Given the description of an element on the screen output the (x, y) to click on. 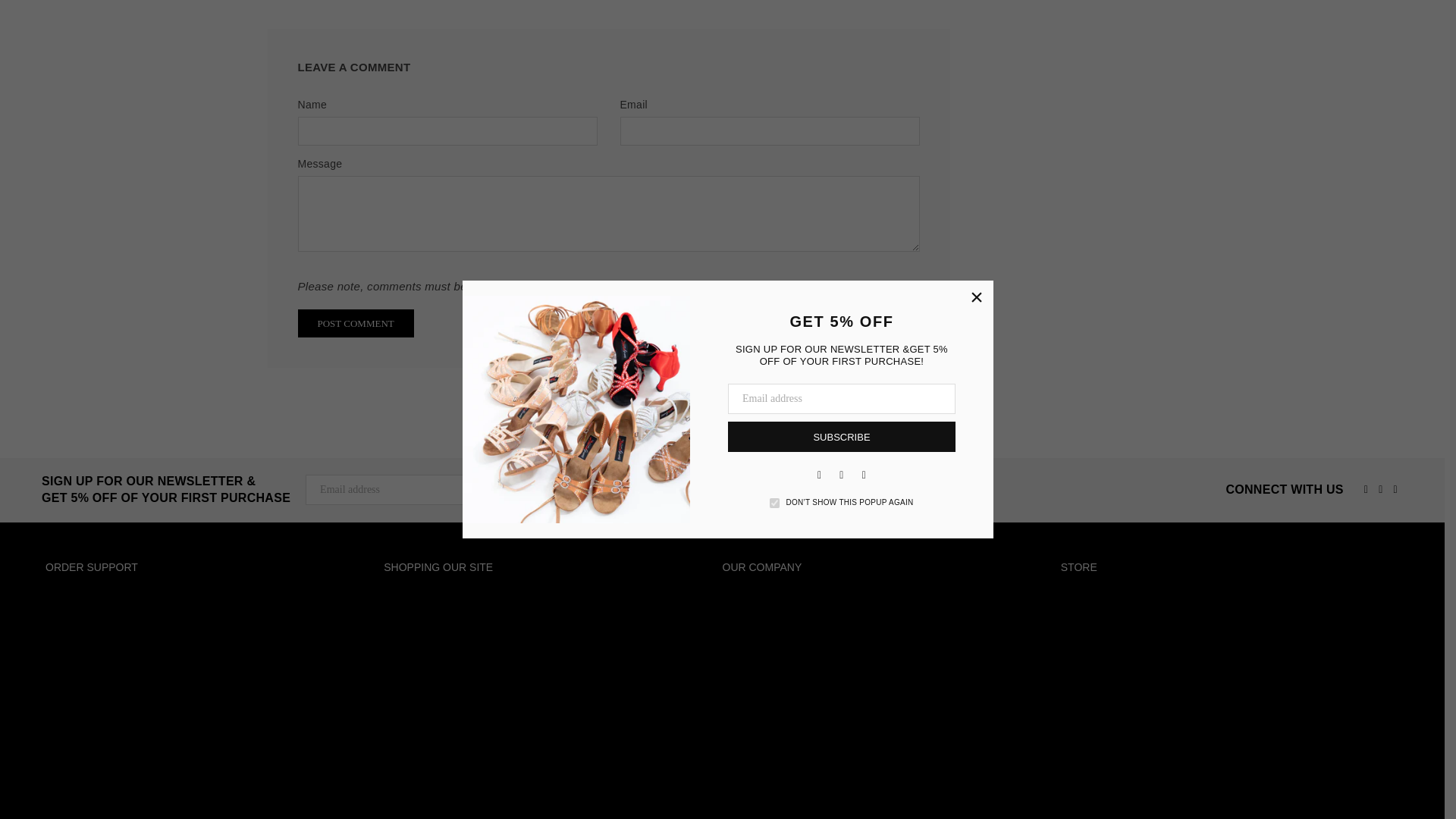
Mastercard (1324, 791)
American Express (1204, 791)
Diners Club (1264, 791)
Apple Pay (1234, 791)
Visa (1386, 791)
PayPal (1355, 791)
Discover (1294, 791)
